Given the description of an element on the screen output the (x, y) to click on. 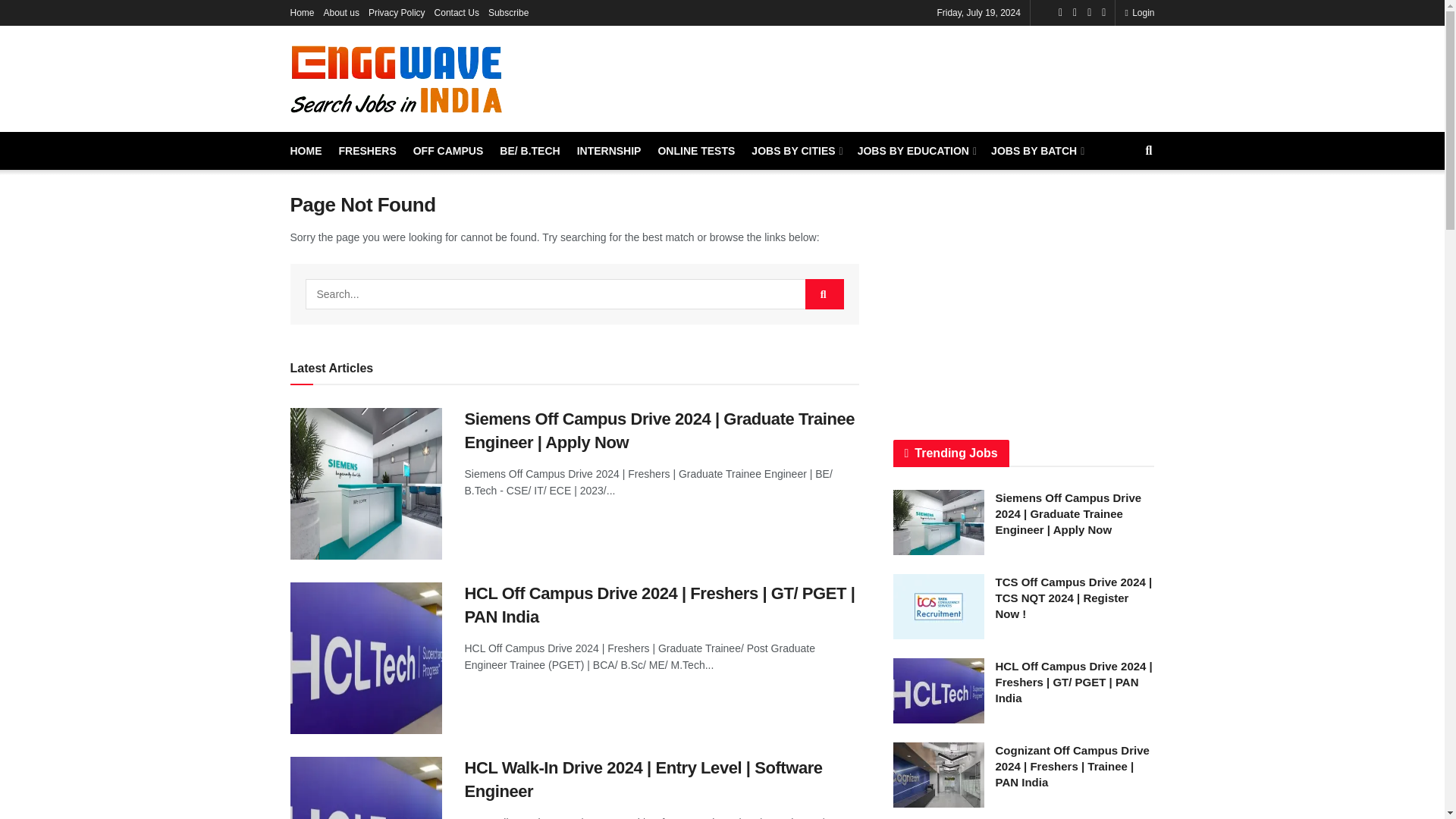
Privacy Policy (396, 12)
OFF CAMPUS (448, 150)
Home (301, 12)
FRESHERS (366, 150)
Advertisement (878, 76)
About us (341, 12)
Subscribe (507, 12)
JOBS BY CITIES (795, 150)
HOME (305, 150)
Contact Us (456, 12)
INTERNSHIP (609, 150)
Advertisement (1023, 298)
Login (1139, 12)
ONLINE TESTS (696, 150)
